Given the description of an element on the screen output the (x, y) to click on. 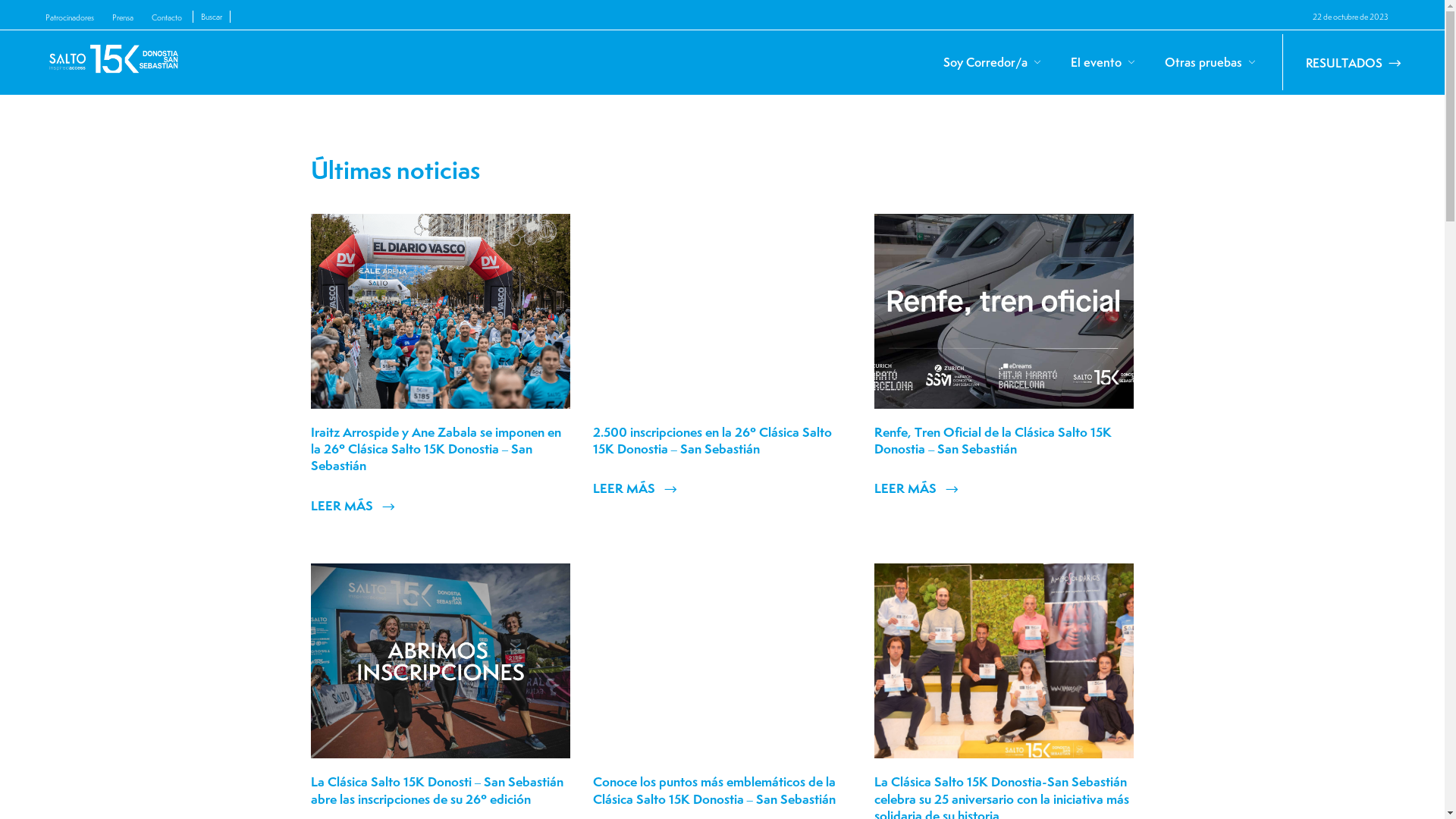
Contacto Element type: text (166, 17)
RESULTADOS Element type: text (1353, 62)
Prensa Element type: text (122, 17)
El evento Element type: text (1100, 62)
Otras pruebas Element type: text (1208, 62)
Patrocinadores Element type: text (69, 17)
Ir al contenido principal Element type: text (0, 0)
Soy Corredor/a Element type: text (989, 62)
